Given the description of an element on the screen output the (x, y) to click on. 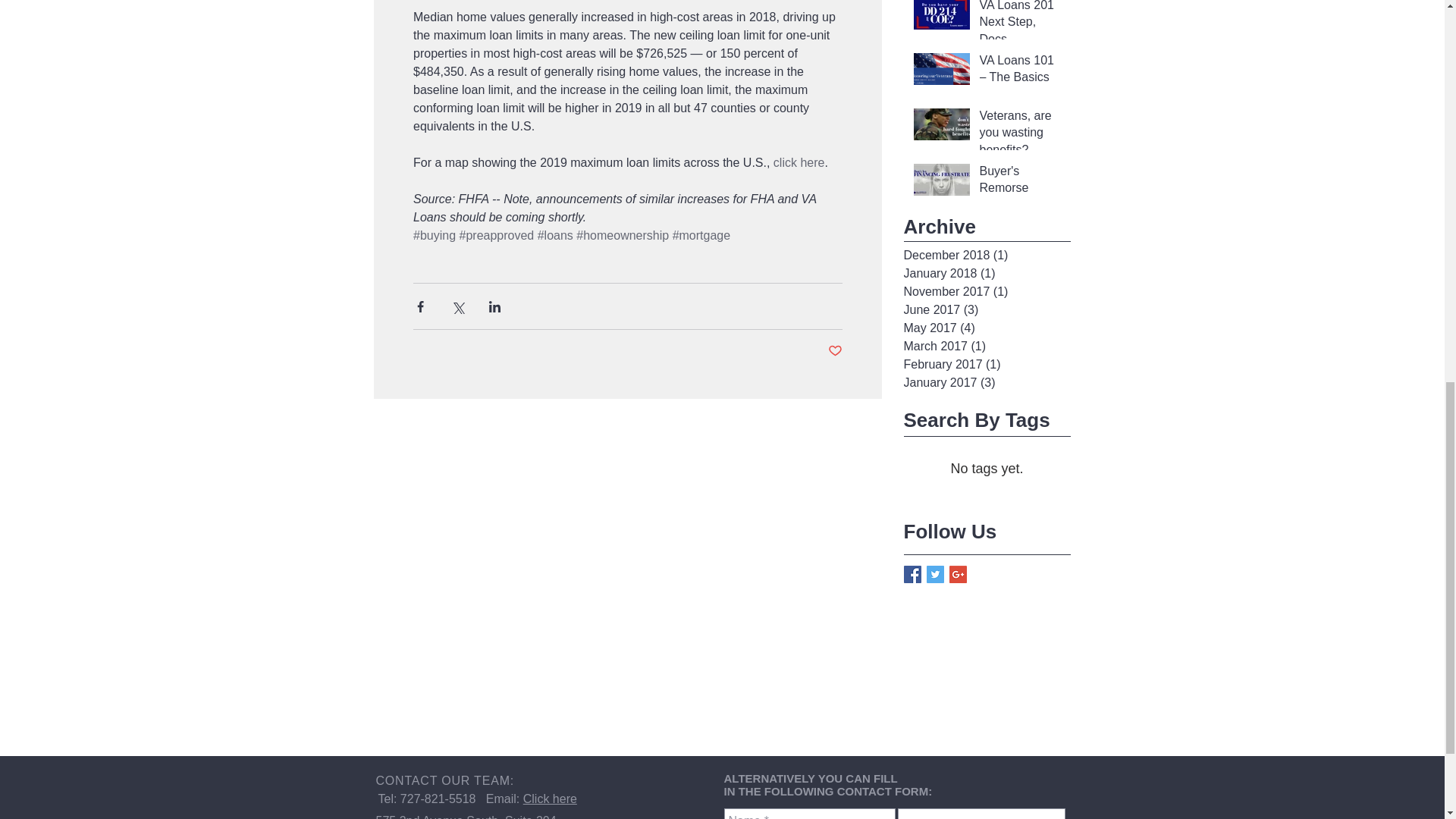
Virtually changing how buyers shop for new homes (1020, 7)
Veterans, are you wasting benefits? (1020, 135)
click here (798, 162)
Buyer's Remorse (1020, 182)
VA Loans 201 Next Step, Docs (1020, 27)
Post not marked as liked (835, 351)
